Given the description of an element on the screen output the (x, y) to click on. 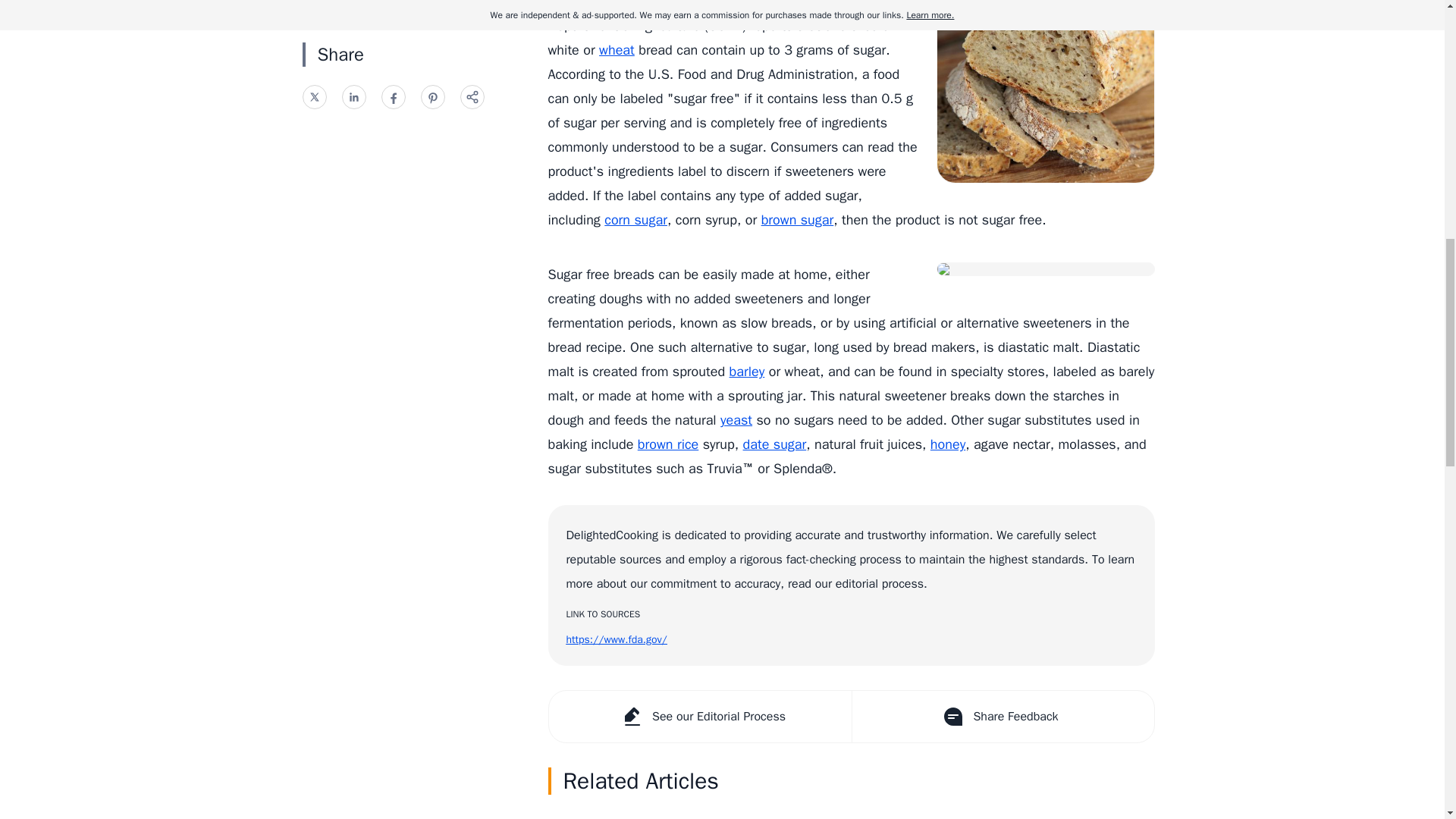
corn sugar (635, 219)
brown sugar (797, 219)
brown rice (667, 443)
date sugar (774, 443)
barley (747, 371)
yeast (736, 419)
wheat (616, 49)
